Given the description of an element on the screen output the (x, y) to click on. 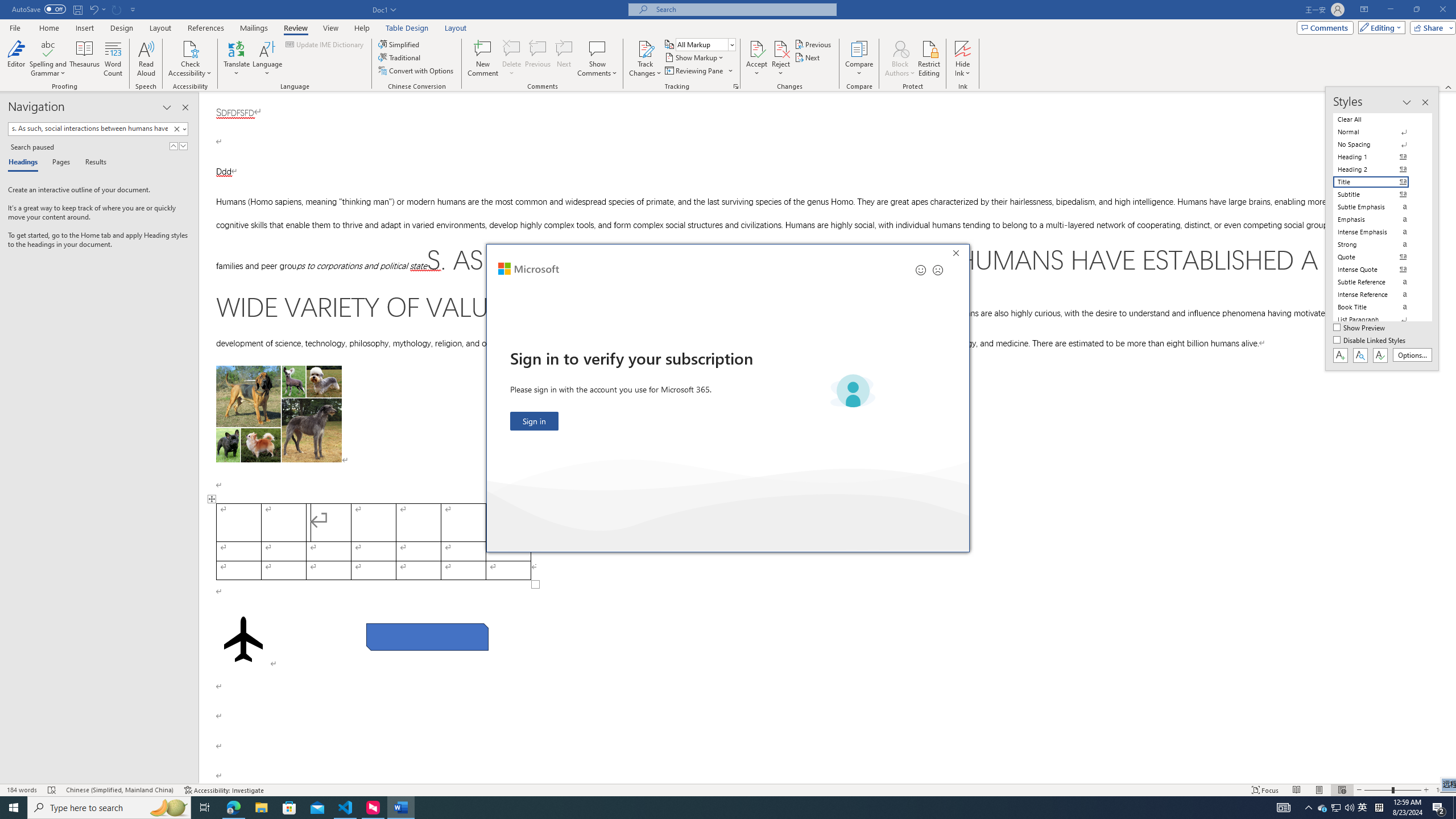
Block Authors (900, 48)
Delete (511, 58)
Normal (1377, 131)
Next Result (183, 145)
Delete (511, 48)
Undo Style (92, 9)
Update IME Dictionary... (324, 44)
Read Aloud (145, 58)
Emphasis (1377, 219)
Show Comments (597, 48)
